Given the description of an element on the screen output the (x, y) to click on. 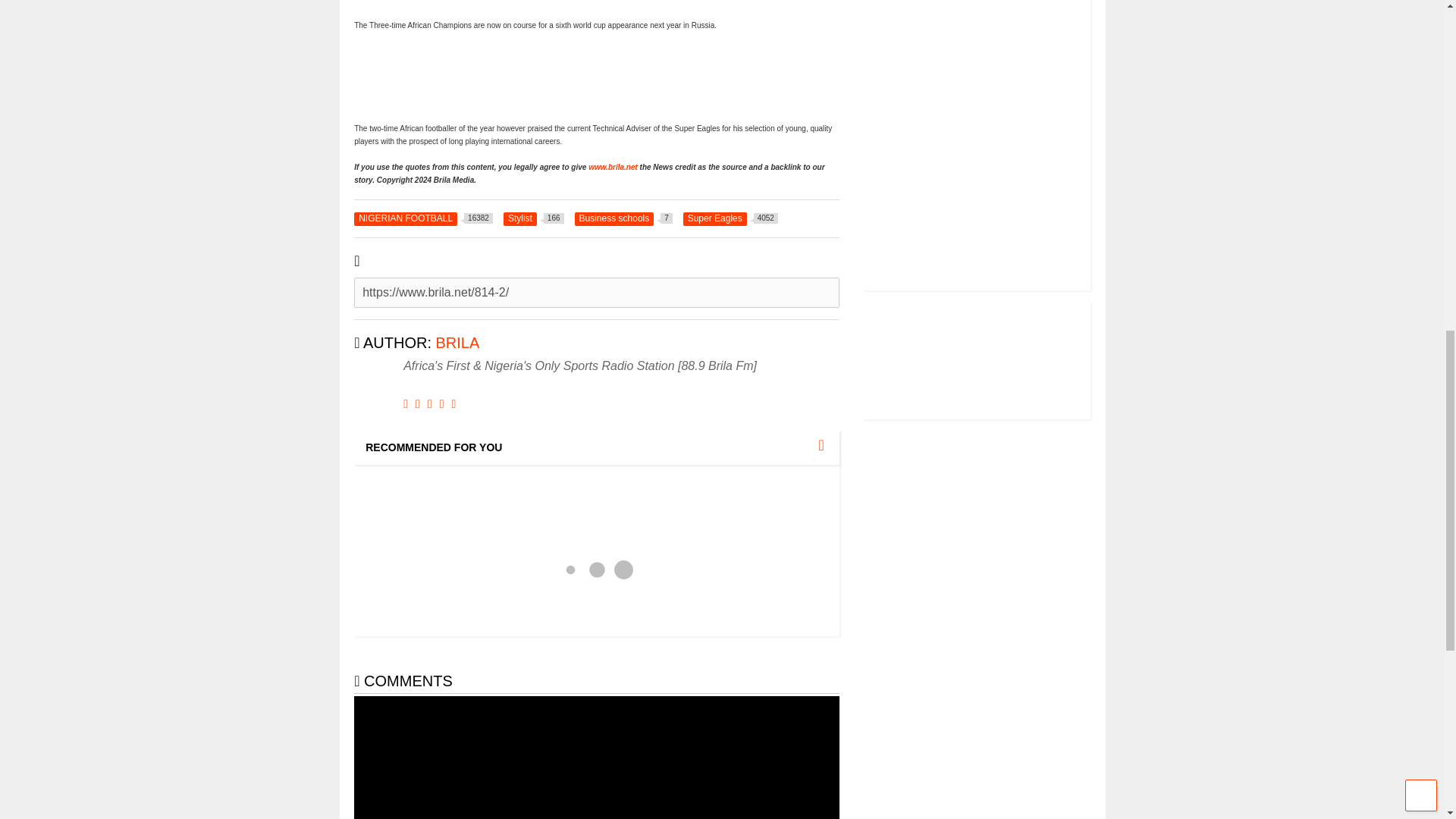
www.brila.net (612, 166)
BRILA (623, 218)
author profile (729, 218)
